Given the description of an element on the screen output the (x, y) to click on. 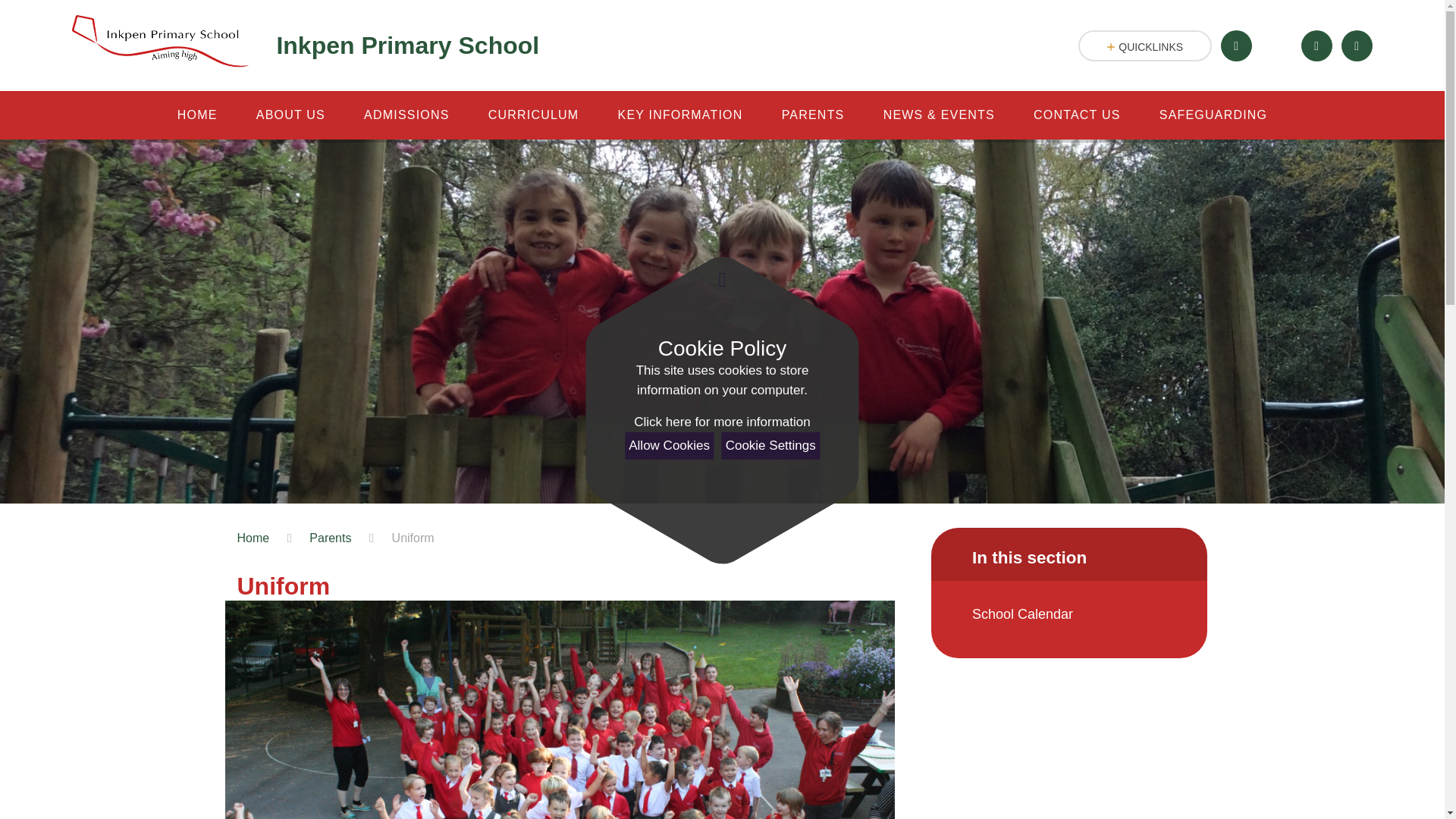
ADMISSIONS (406, 114)
Cookie Settings (769, 445)
Inkpen Primary School (304, 45)
See cookie policy (721, 422)
HOME (196, 114)
Allow Cookies (668, 445)
ABOUT US (289, 114)
CURRICULUM (533, 114)
